Given the description of an element on the screen output the (x, y) to click on. 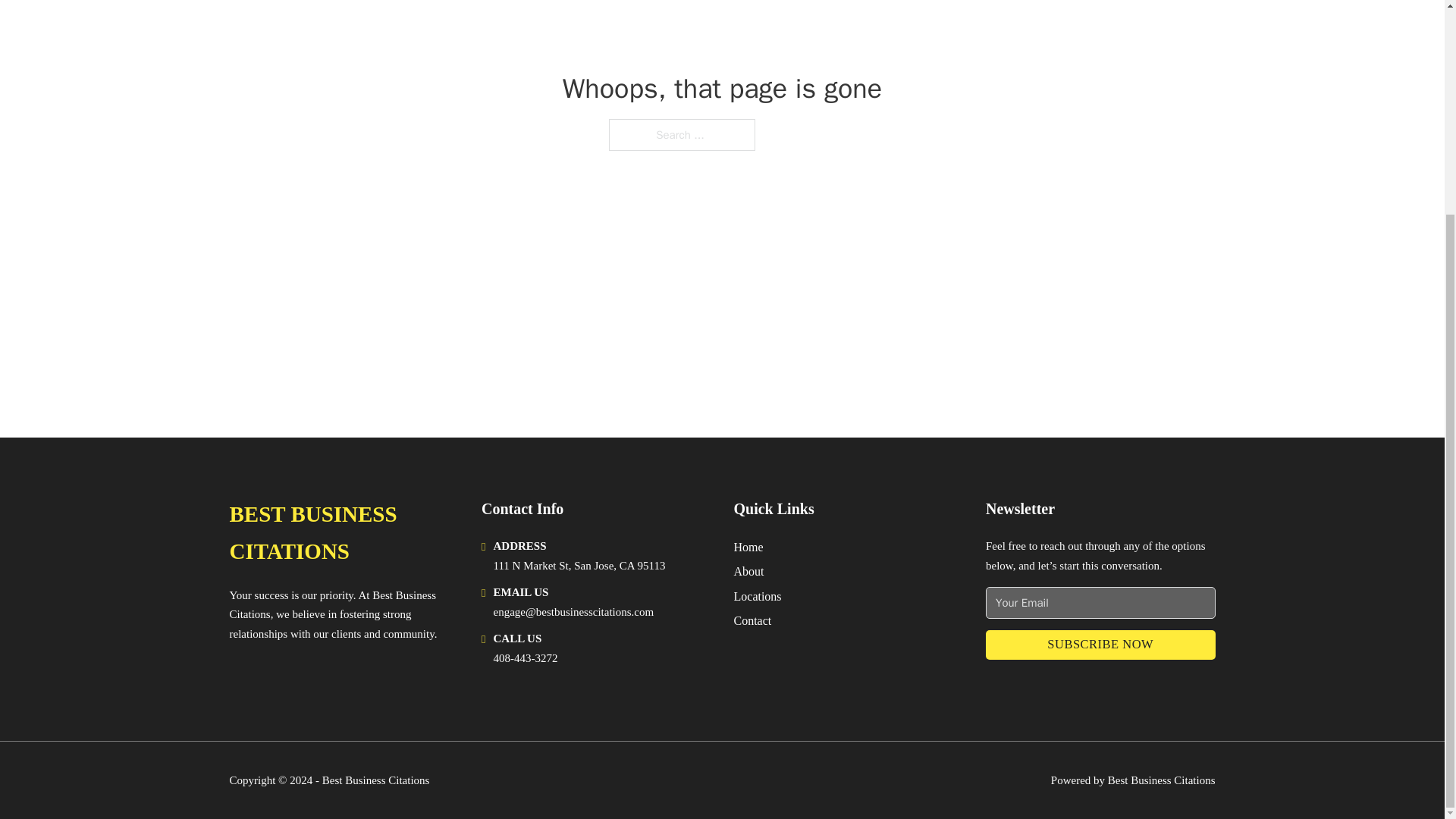
408-443-3272 (525, 657)
Home (747, 547)
Contact (752, 620)
Locations (757, 596)
BEST BUSINESS CITATIONS (343, 533)
SUBSCRIBE NOW (1100, 644)
About (748, 571)
